Given the description of an element on the screen output the (x, y) to click on. 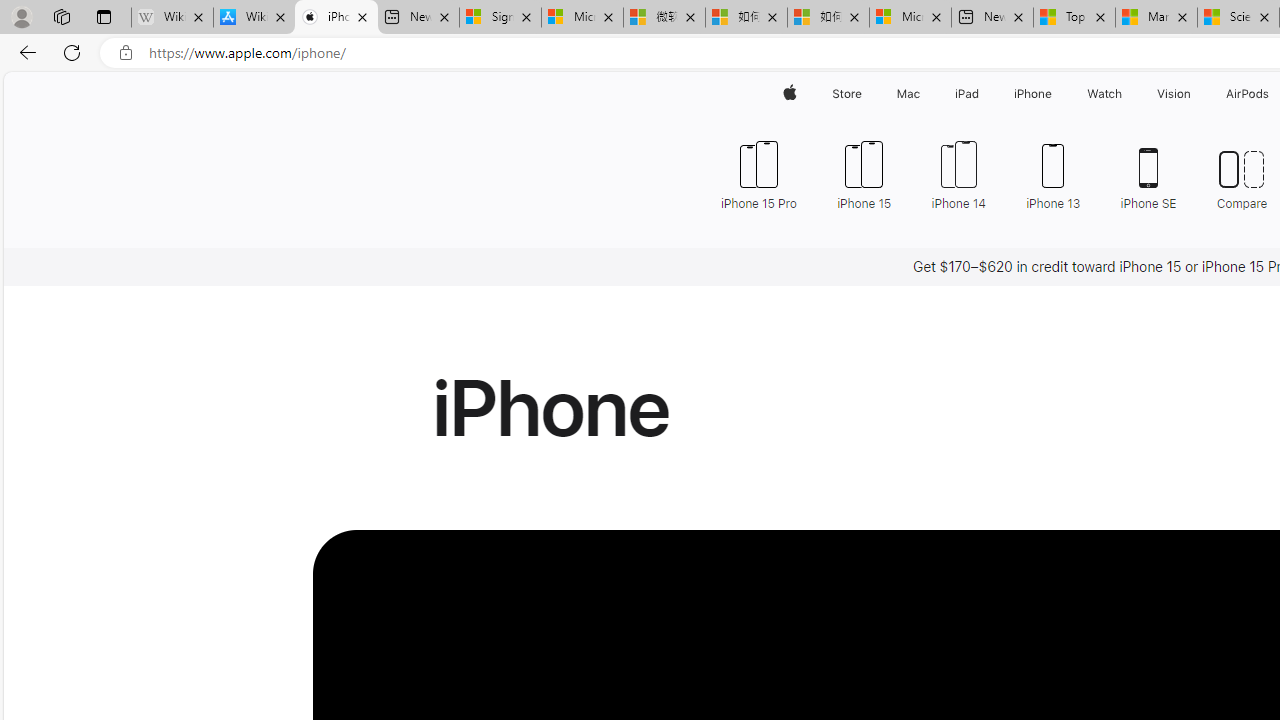
Class: globalnav-submenu-trigger-item (1195, 93)
AirPods (1247, 93)
Store (846, 93)
